Given the description of an element on the screen output the (x, y) to click on. 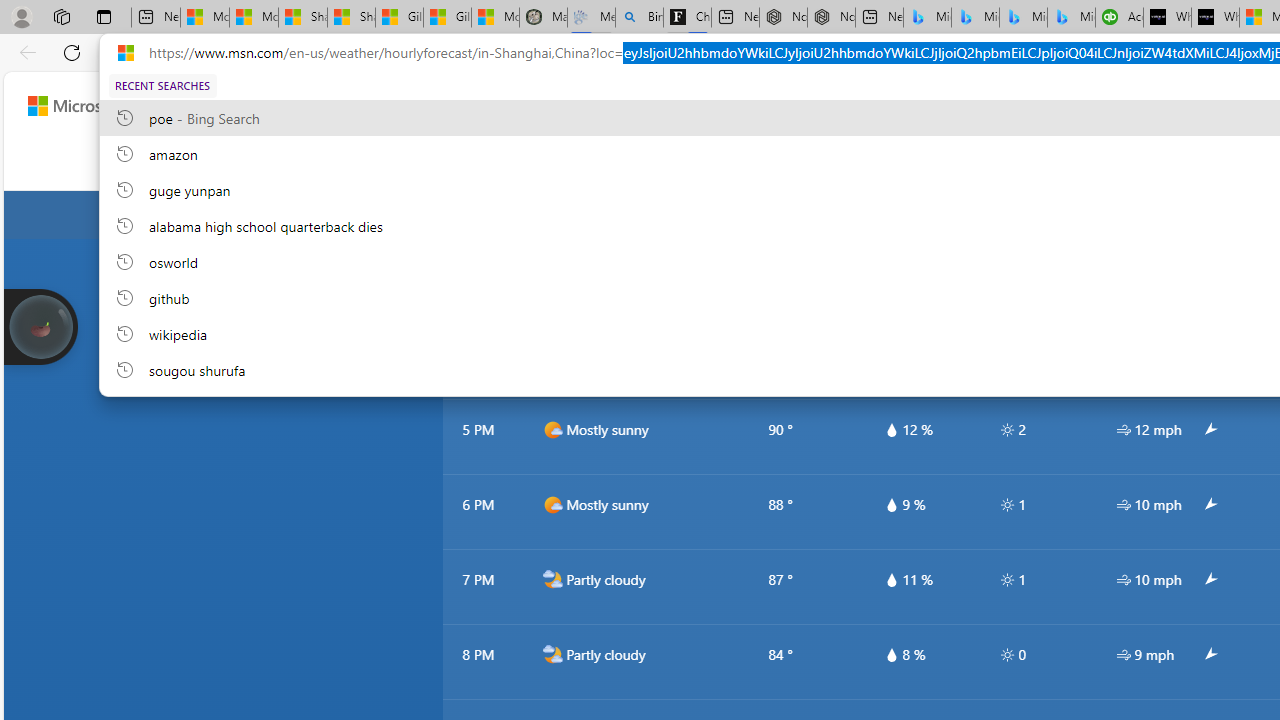
Hurricanes (1042, 162)
Skip to footer (82, 105)
Hourly (670, 162)
Monthly (751, 162)
Weather (524, 162)
Hurricanes (1042, 162)
Chloe Sorvino (687, 17)
Maps (599, 162)
d1000 (552, 504)
Severe Weather (929, 162)
Following (433, 162)
